Given the description of an element on the screen output the (x, y) to click on. 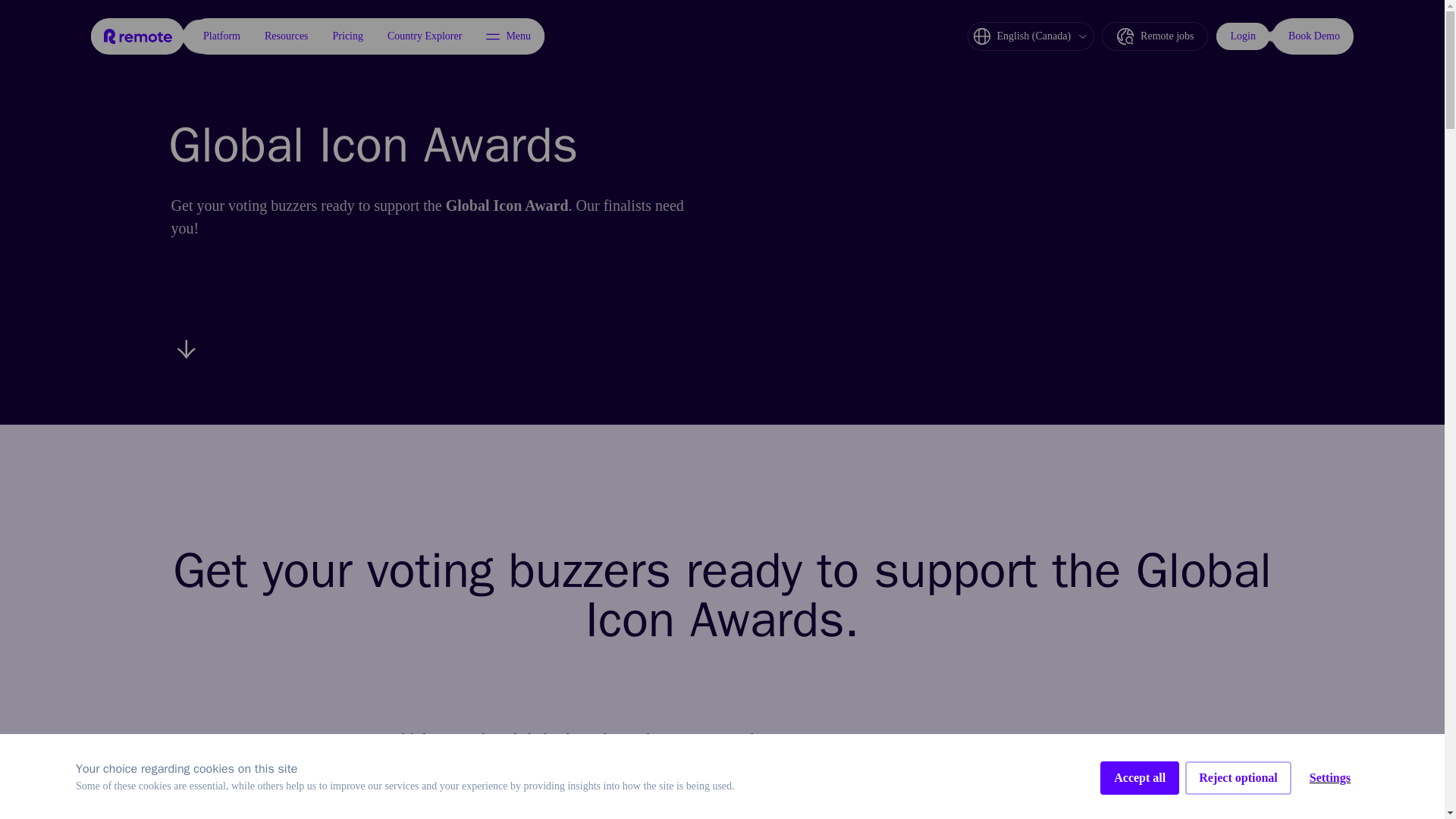
Skip to Content (102, 29)
Platform (220, 36)
Reject optional (1238, 777)
Settings (1329, 777)
Accept all (1139, 777)
